Given the description of an element on the screen output the (x, y) to click on. 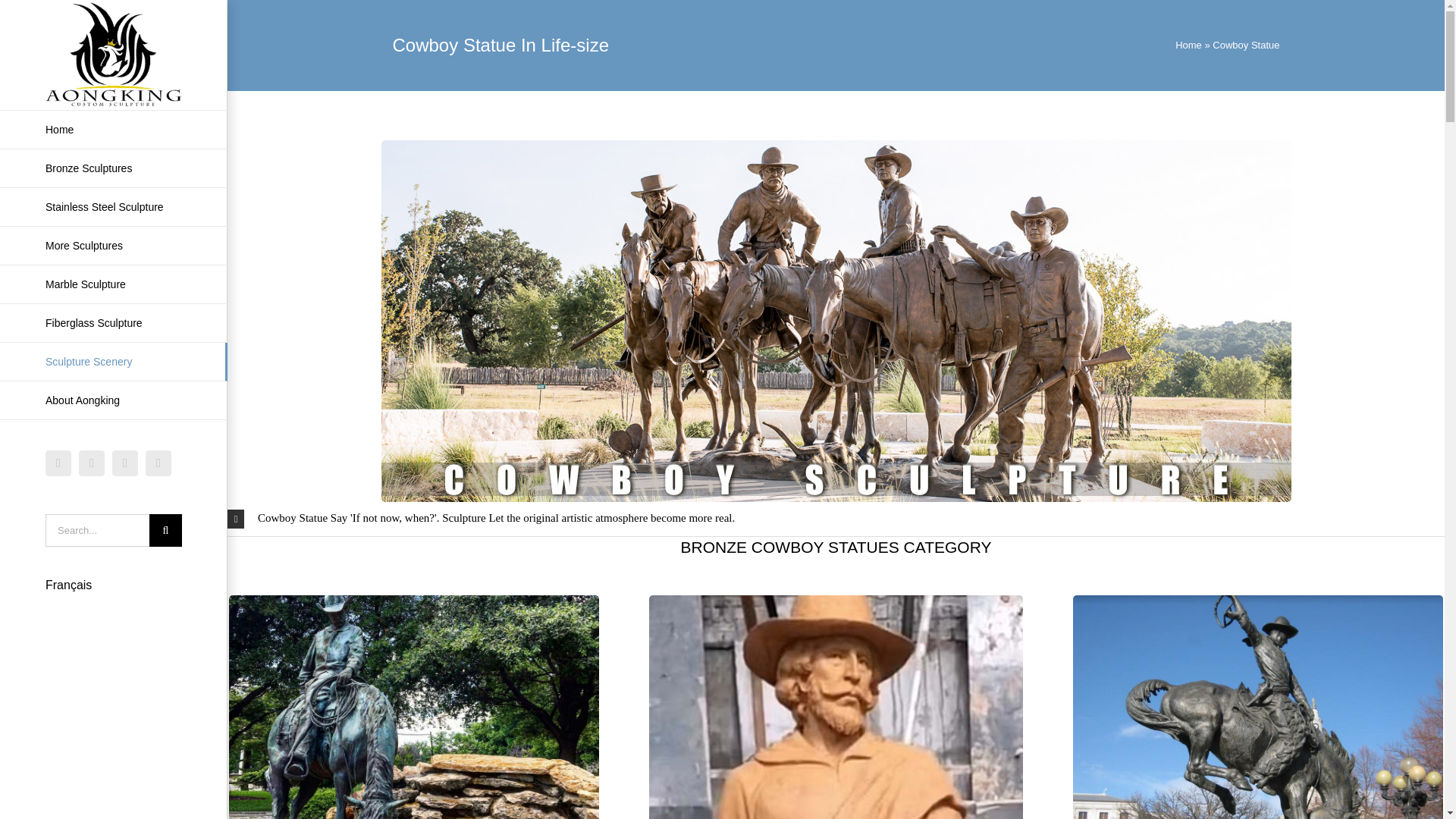
Home (113, 129)
Bronze Sculptures (113, 168)
Home of Aongking sculpture (113, 129)
Bronze Sculptures (113, 168)
